Given the description of an element on the screen output the (x, y) to click on. 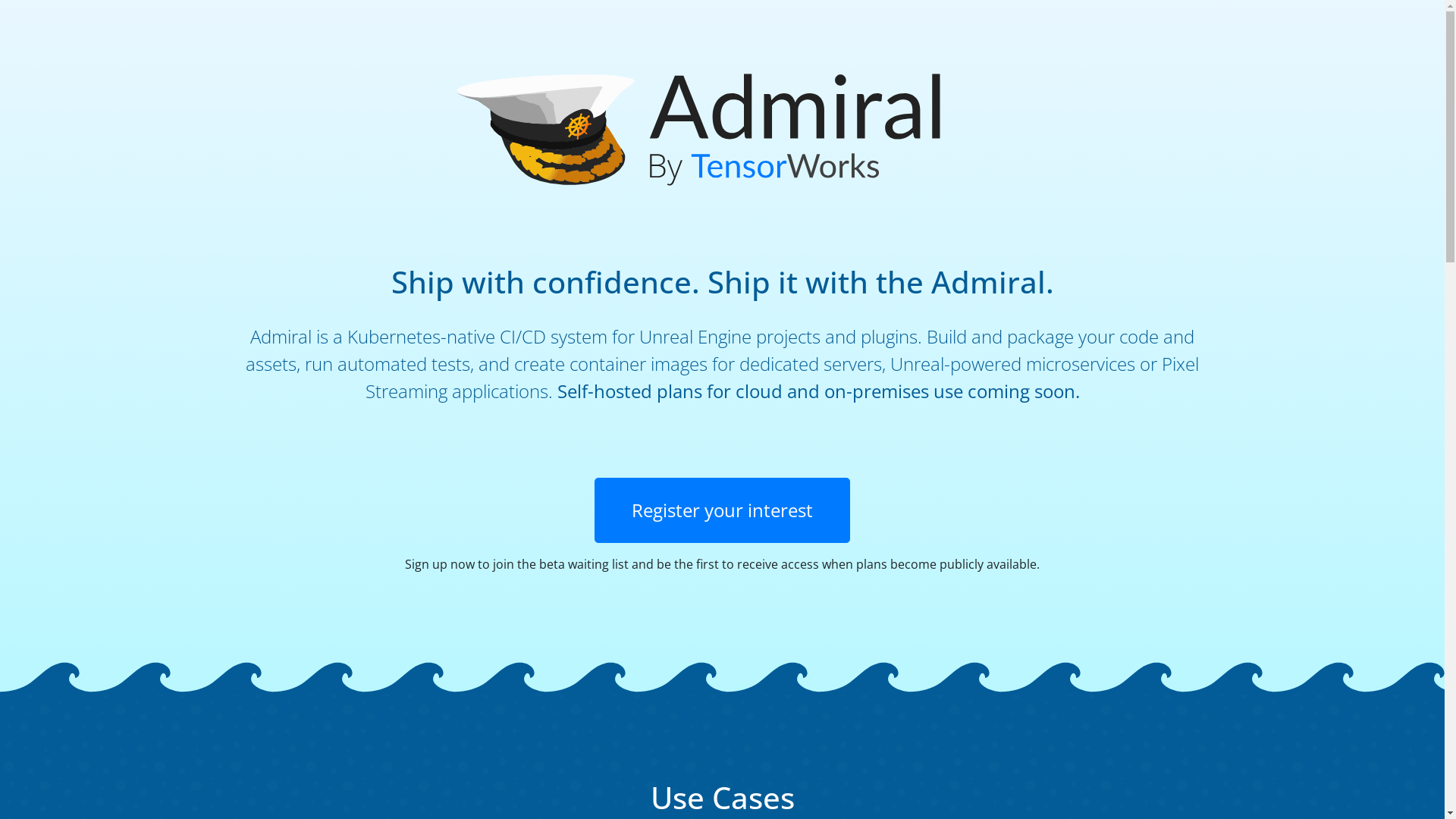
Register your interest Element type: text (722, 509)
